Given the description of an element on the screen output the (x, y) to click on. 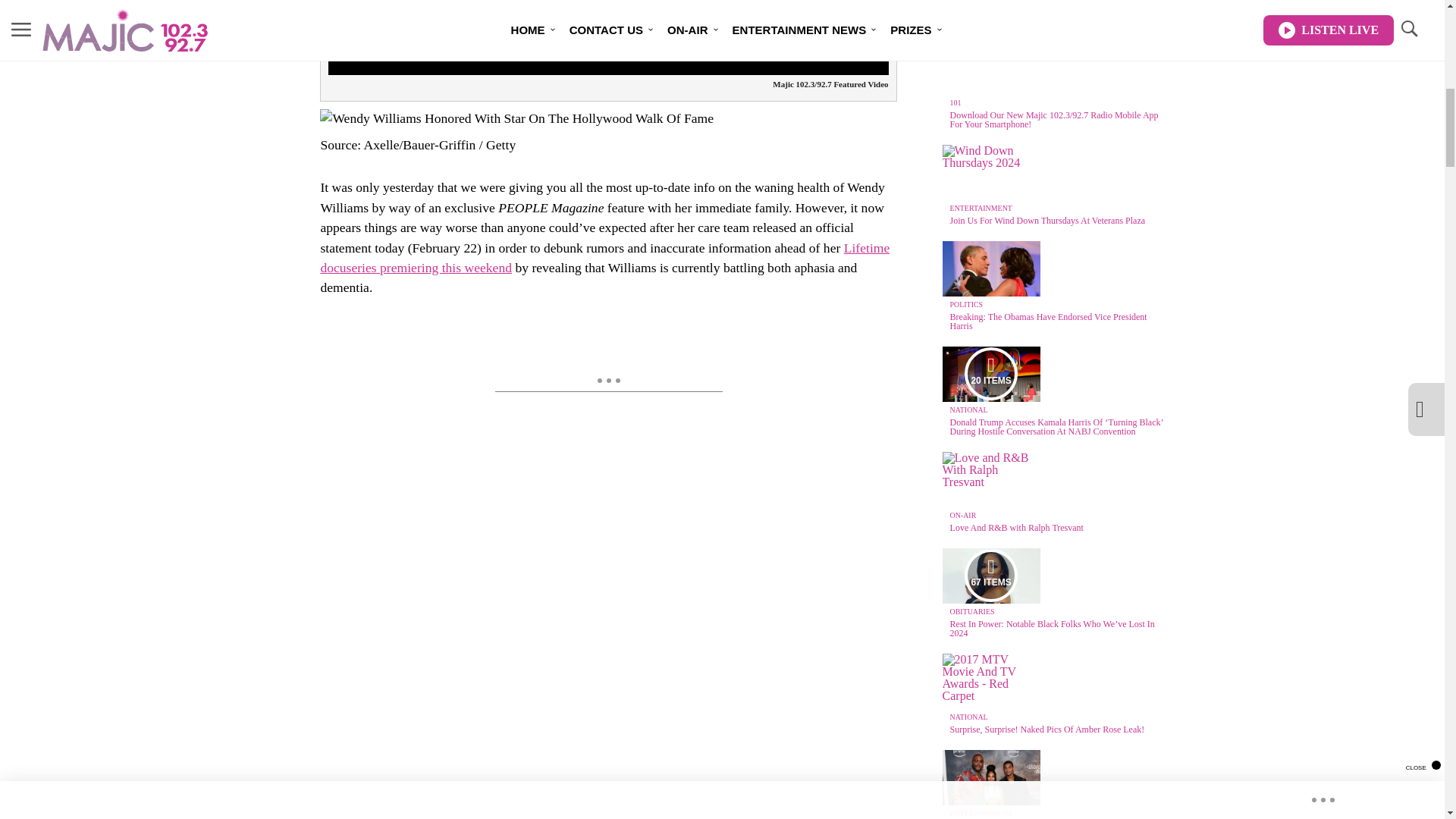
Media Playlist (990, 574)
Media Playlist (990, 373)
Lifetime docuseries premiering this weekend (604, 257)
